Given the description of an element on the screen output the (x, y) to click on. 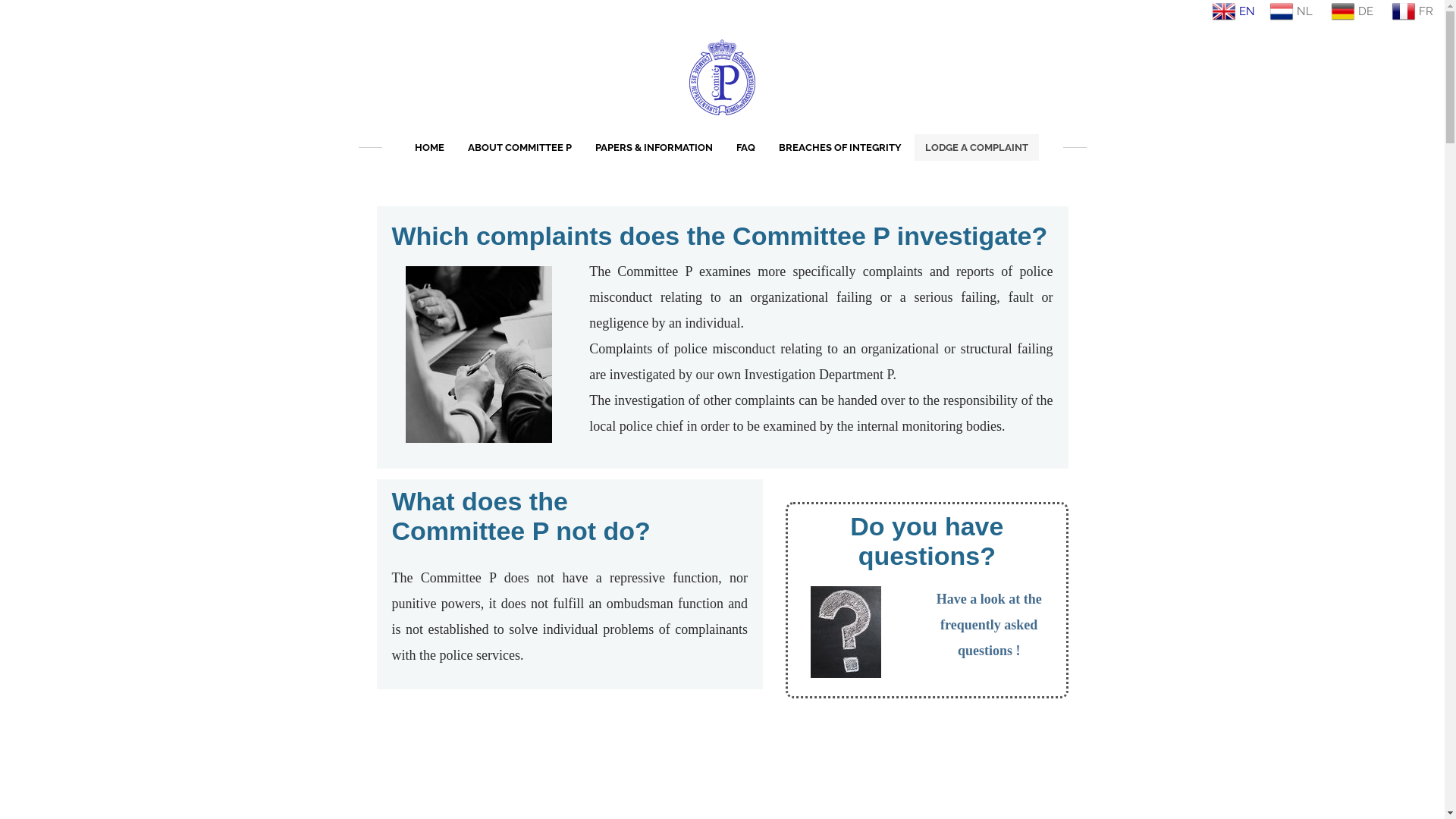
BREACHES OF INTEGRITY Element type: text (839, 147)
FAQ Element type: text (744, 147)
PAPERS & INFORMATION Element type: text (652, 147)
LODGE A COMPLAINT Element type: text (976, 147)
ABOUT COMMITTEE P Element type: text (518, 147)
FR Element type: text (1412, 12)
Do you have questions? Element type: text (926, 540)
DE Element type: text (1351, 12)
NL Element type: text (1290, 12)
HOME Element type: text (428, 147)
Have a look at the frequently asked questions ! Element type: text (988, 624)
